Given the description of an element on the screen output the (x, y) to click on. 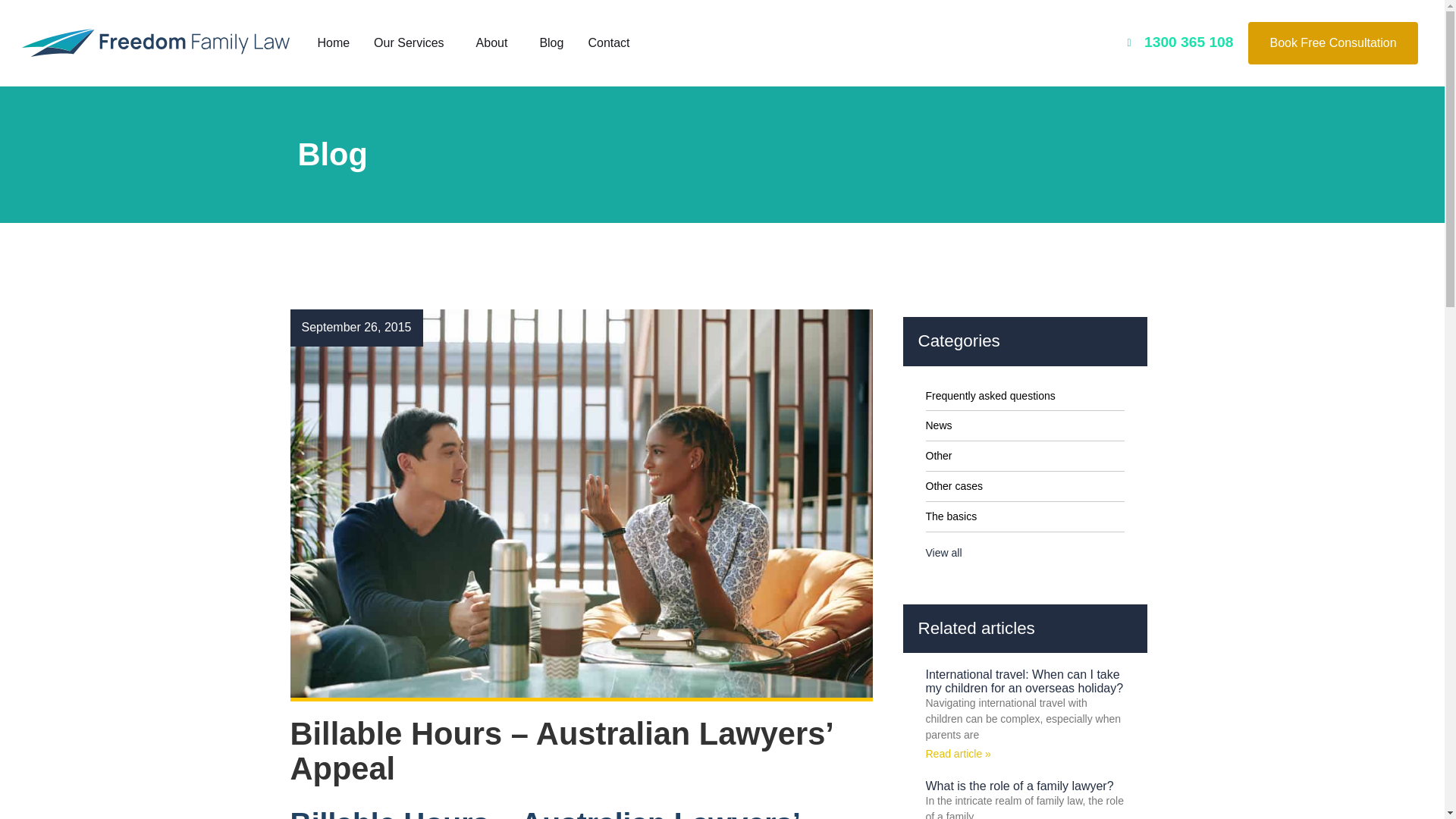
About (495, 42)
Home (332, 42)
Contact (612, 42)
Blog (551, 42)
Our Services (412, 42)
